Given the description of an element on the screen output the (x, y) to click on. 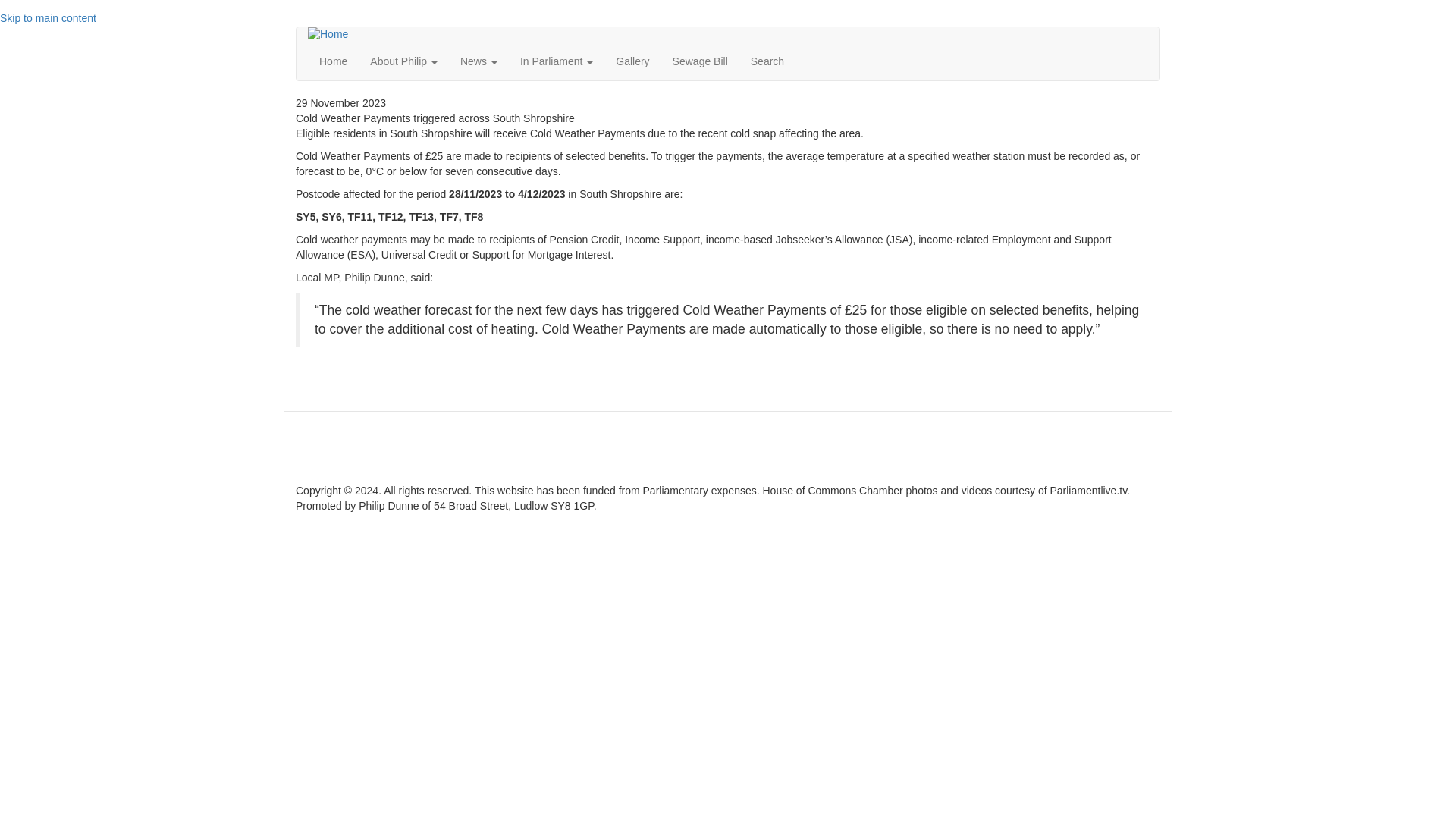
Home (332, 61)
Home (333, 33)
Skip to main content (48, 18)
Search (766, 61)
In Parliament (556, 61)
About Philip (403, 61)
News (478, 61)
Gallery (632, 61)
Sewage Bill (700, 61)
